Given the description of an element on the screen output the (x, y) to click on. 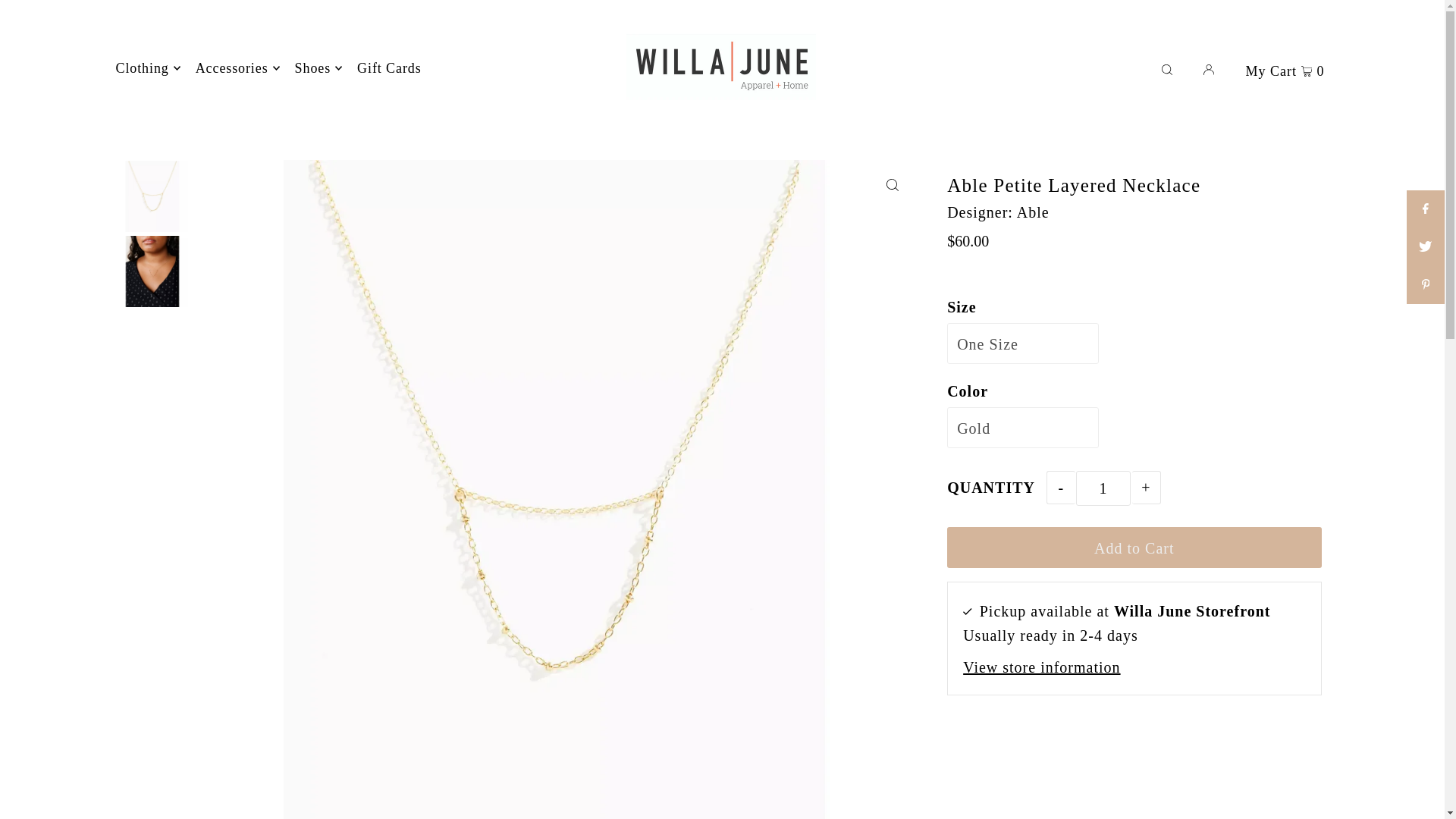
Add to Cart (1133, 547)
Click to zoom (891, 184)
Clothing (147, 67)
1 (1103, 488)
